Given the description of an element on the screen output the (x, y) to click on. 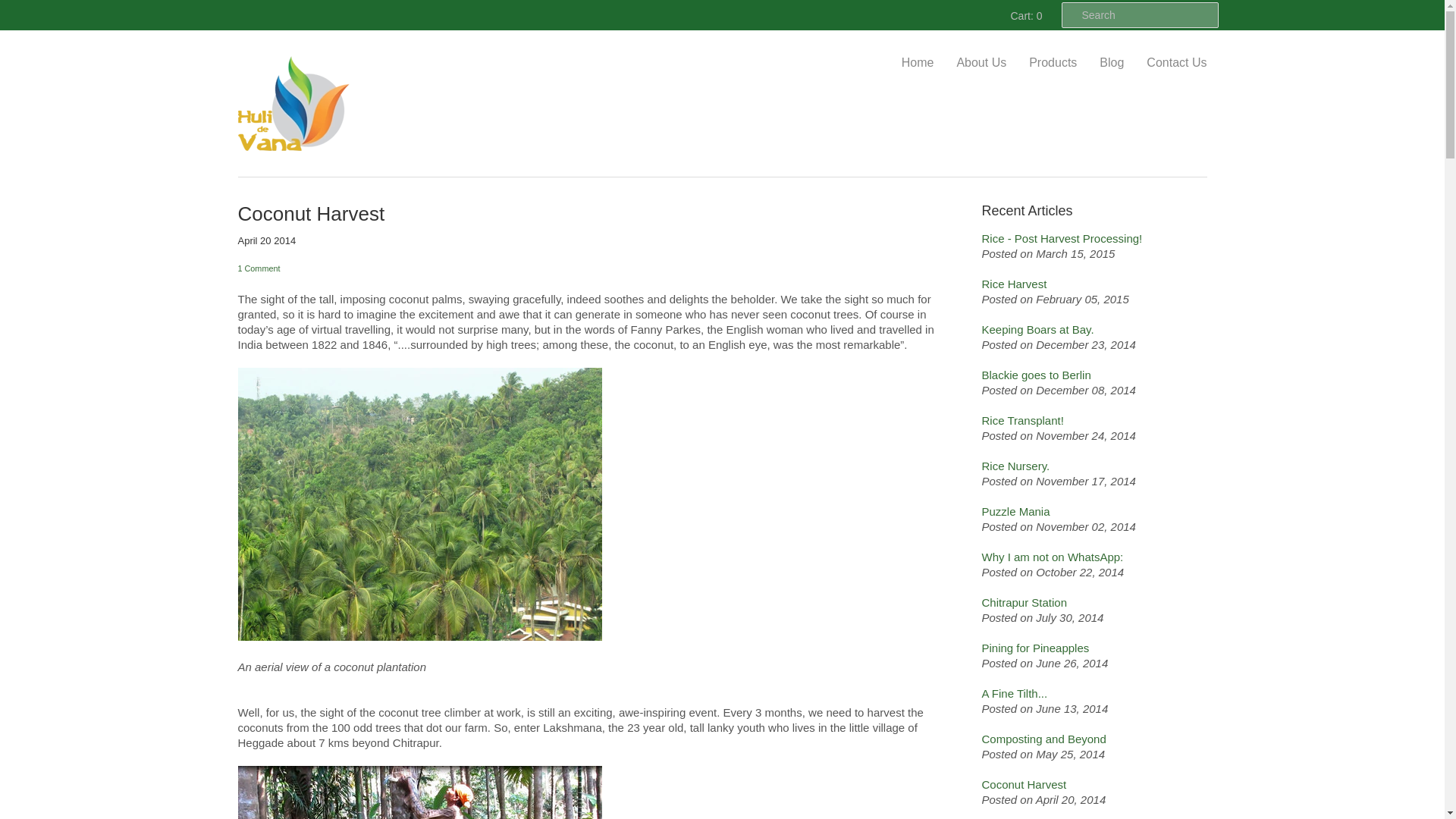
Cart: 0 (1024, 15)
Contact Us (1165, 63)
Blog (1100, 63)
Products (1041, 63)
Home (917, 63)
Shopping Cart (1024, 15)
About Us (969, 63)
1 Comment (598, 267)
Rice - Post Harvest Processing! (1094, 238)
